Given the description of an element on the screen output the (x, y) to click on. 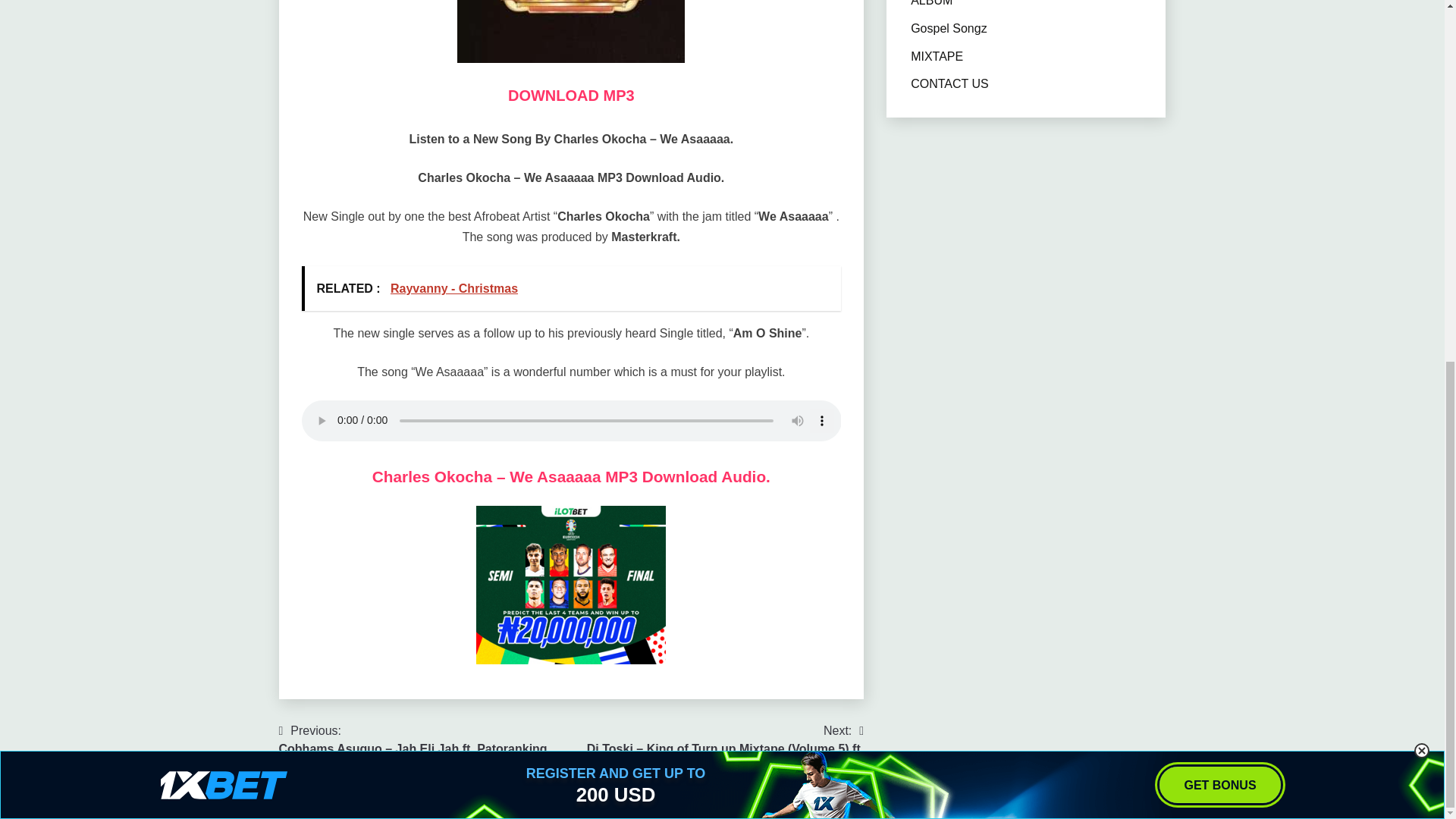
MIXTAPE (936, 56)
RELATED :   Rayvanny - Christmas (571, 288)
DOWNLOAD MP3 (571, 95)
ALBUM (931, 3)
Gospel Songz (949, 28)
CONTACT US (949, 83)
